Given the description of an element on the screen output the (x, y) to click on. 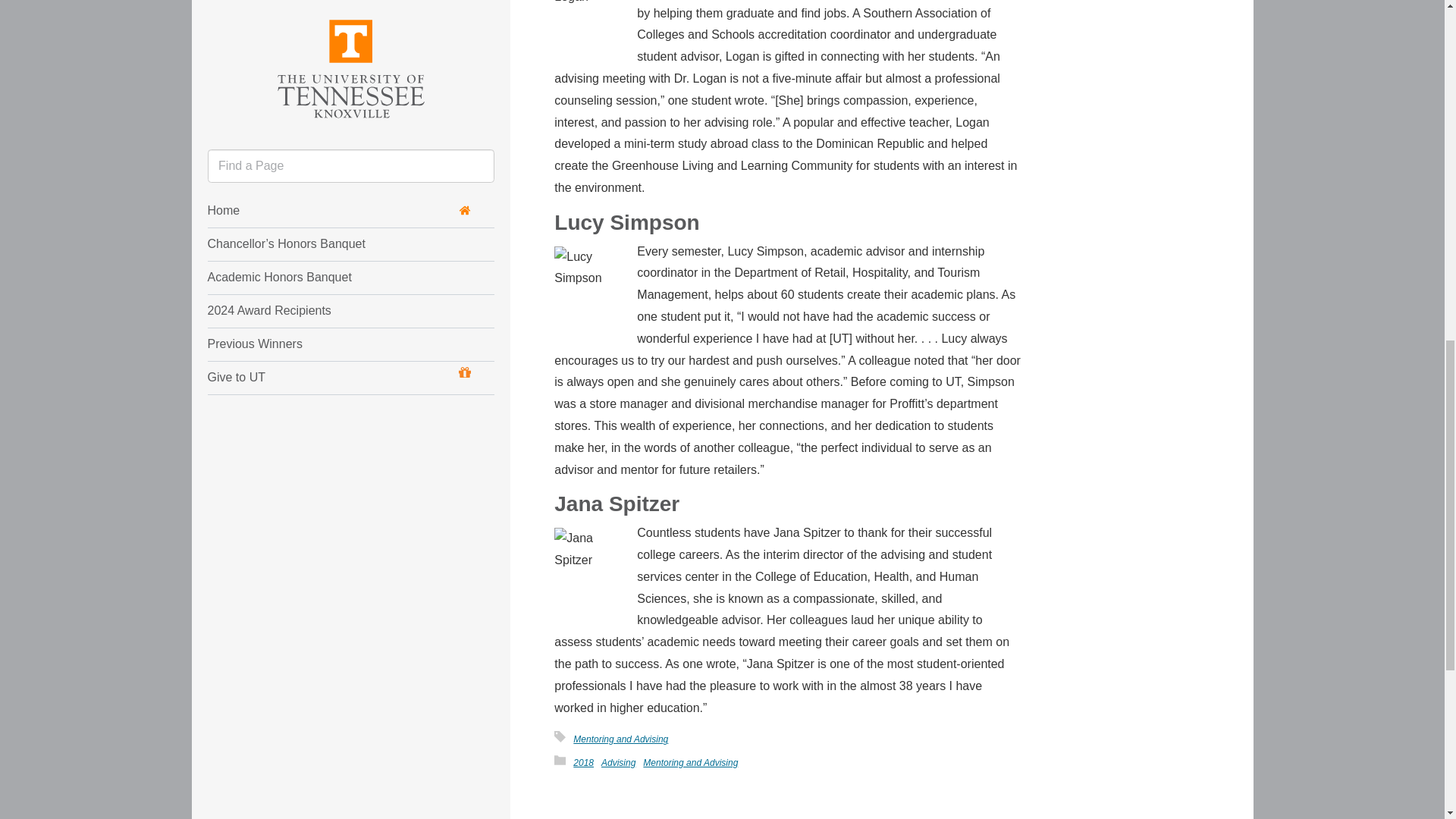
Advising (617, 762)
Mentoring and Advising (690, 762)
2018 (583, 762)
Mentoring and Advising (620, 738)
